Given the description of an element on the screen output the (x, y) to click on. 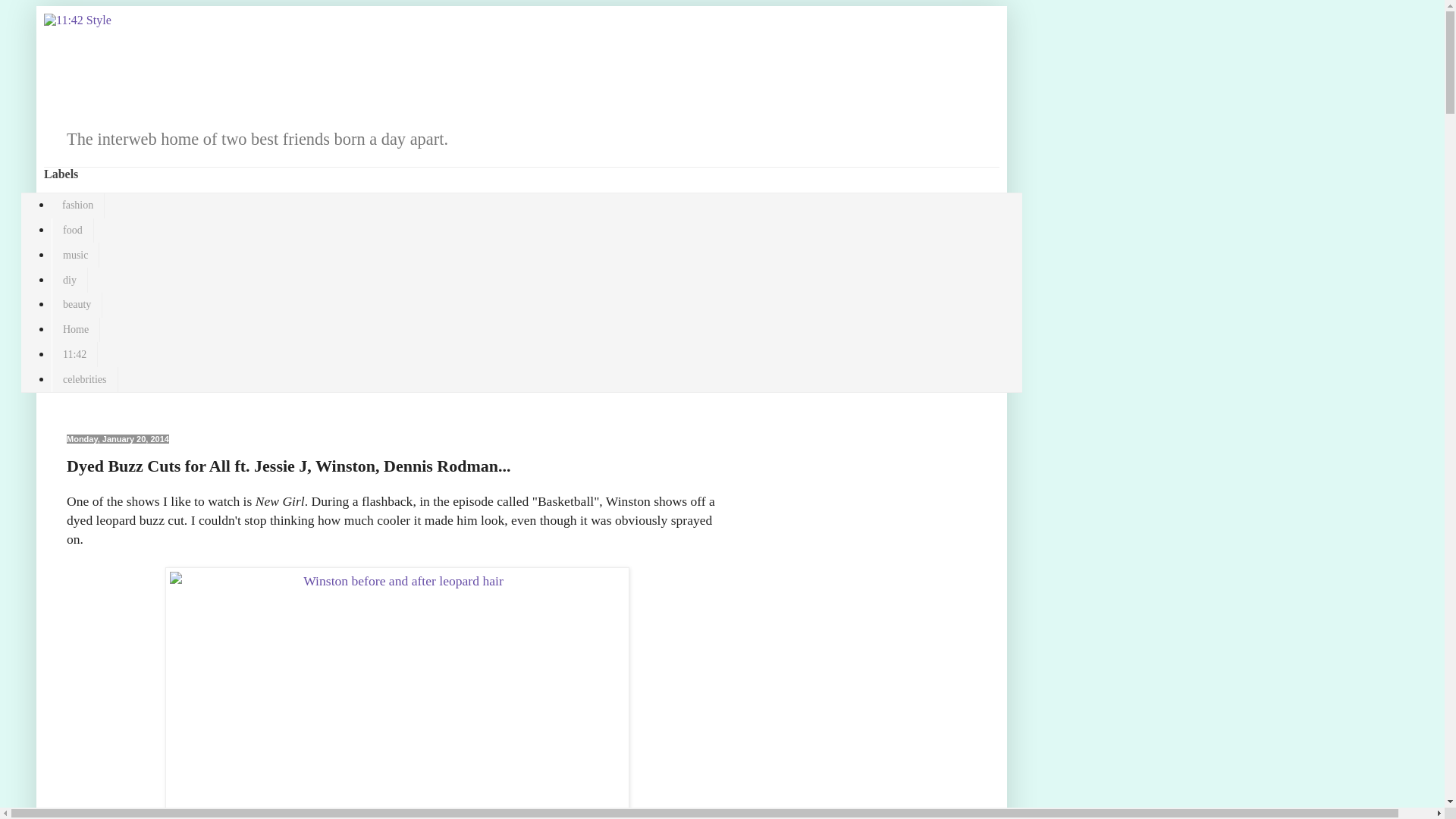
Winston before and after leopard hair Element type: hover (396, 688)
food Element type: text (72, 230)
music Element type: text (75, 254)
fashion Element type: text (77, 205)
Home Element type: text (75, 329)
celebrities Element type: text (84, 379)
diy Element type: text (69, 279)
beauty Element type: text (76, 304)
11:42 Element type: text (74, 354)
